Given the description of an element on the screen output the (x, y) to click on. 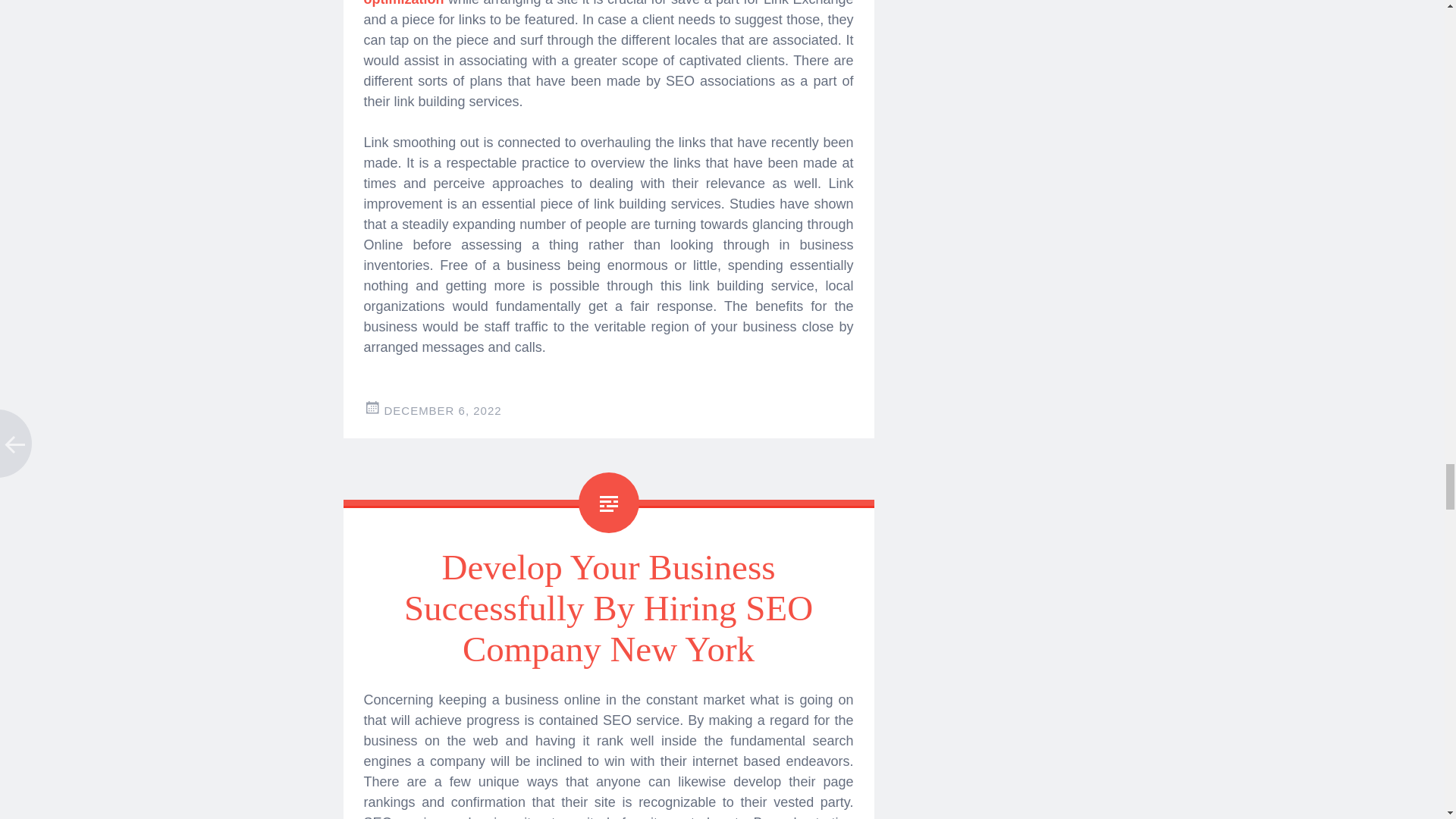
7:17 am (442, 410)
